Given the description of an element on the screen output the (x, y) to click on. 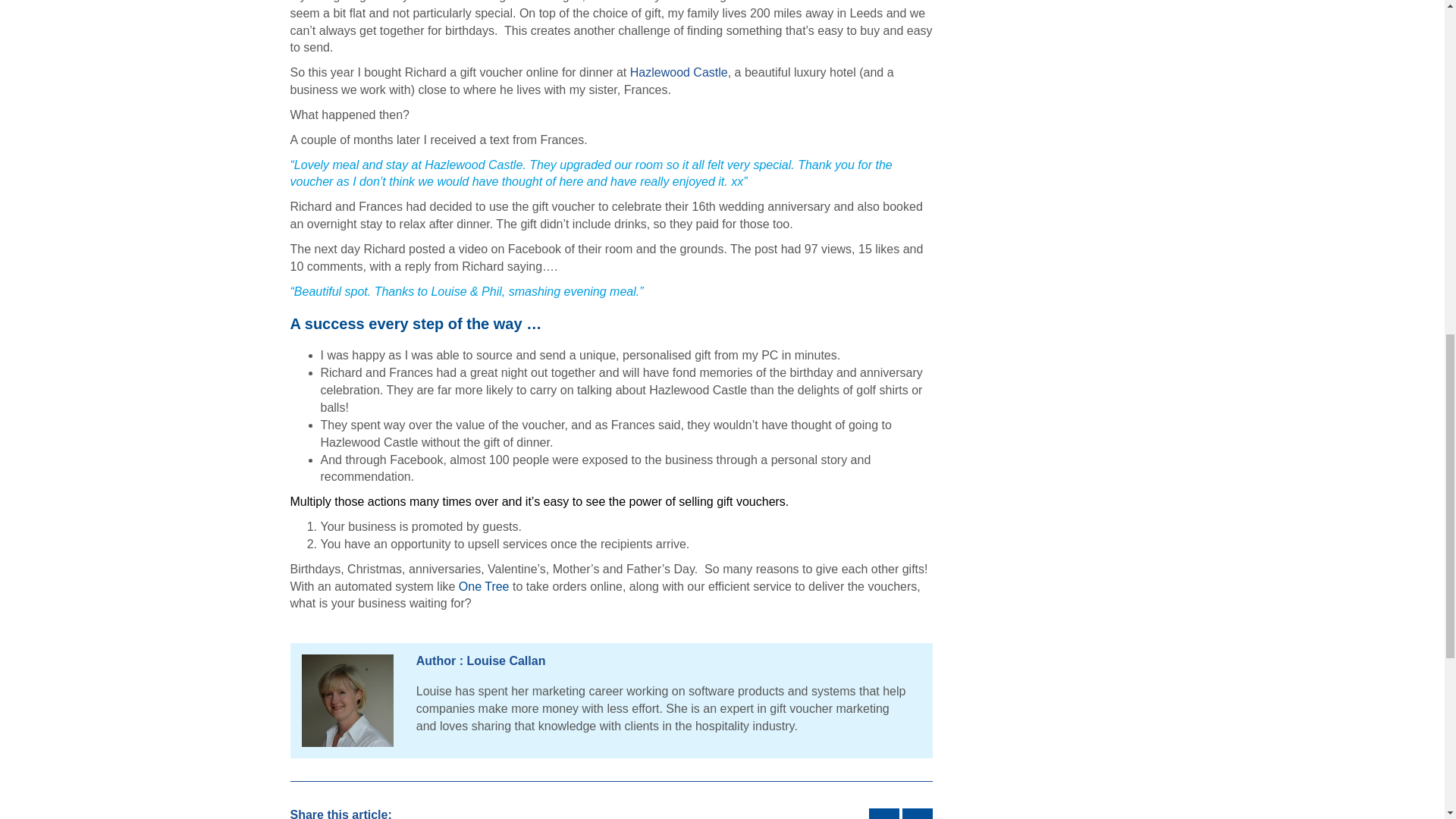
Year round marketing pays off (884, 813)
Hazlewood Castle (679, 72)
One Tree (483, 585)
Louise Callan (504, 660)
Posts by Louise Callan (504, 660)
